Given the description of an element on the screen output the (x, y) to click on. 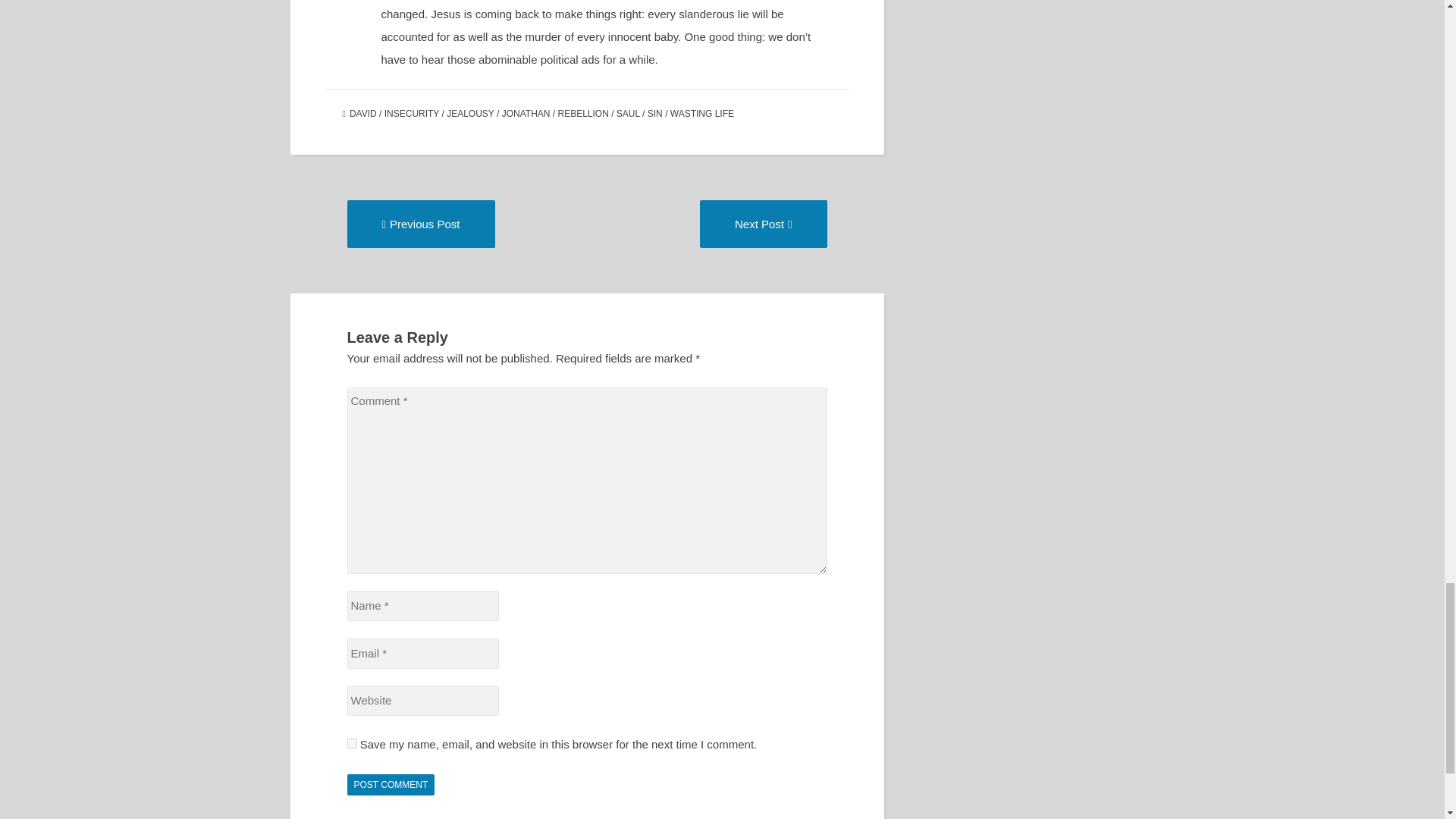
WASTING LIFE (701, 113)
Post Comment (391, 784)
SIN (654, 113)
JEALOUSY (763, 223)
Amazing Grace (421, 223)
INSECURITY (469, 113)
REBELLION (421, 223)
JONATHAN (411, 113)
yes (582, 113)
Post Comment (526, 113)
DAVID (351, 743)
SAUL (391, 784)
